Given the description of an element on the screen output the (x, y) to click on. 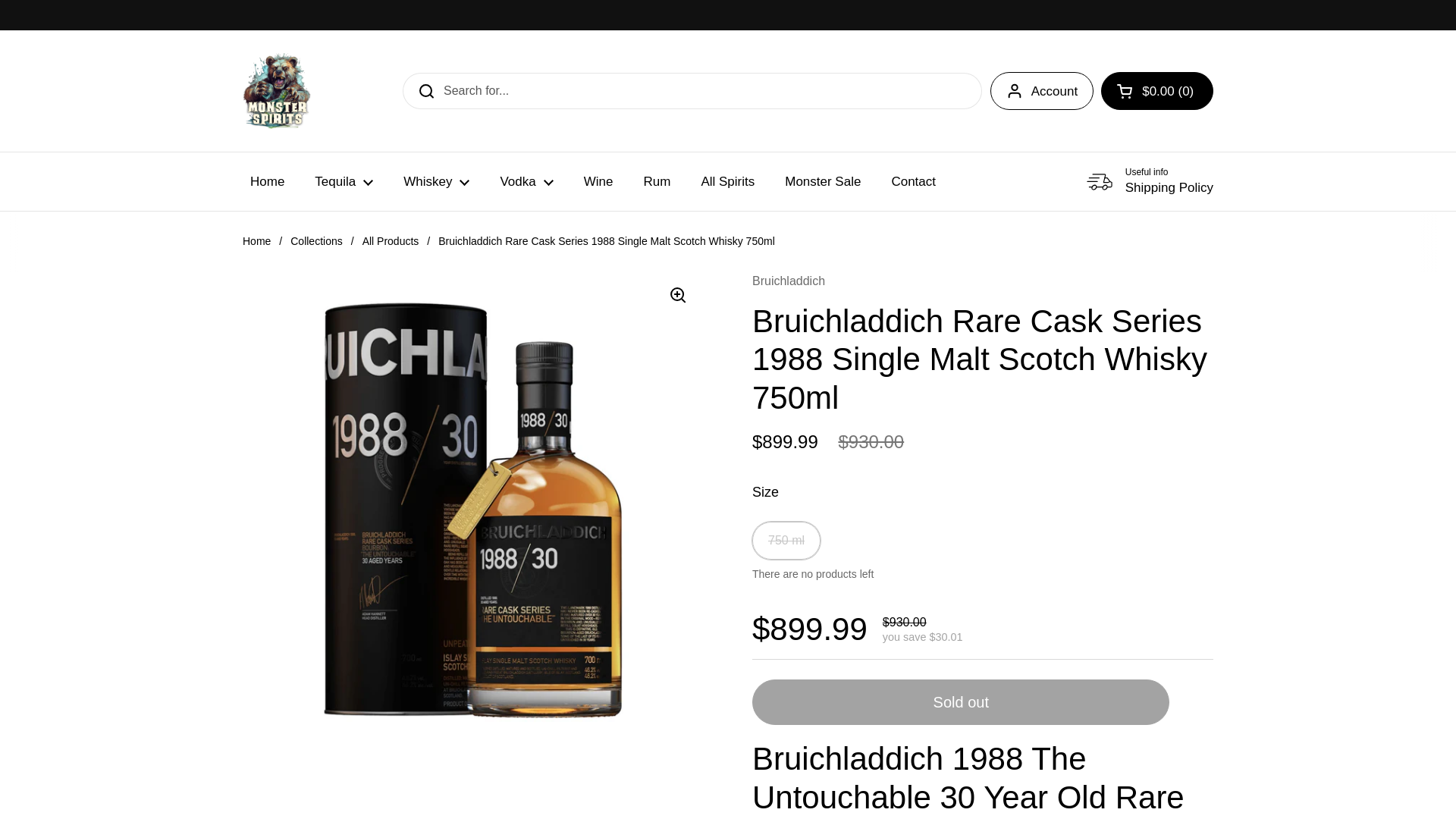
Contact (913, 181)
Whiskey (1148, 181)
Monster Spirits (436, 181)
Rum (277, 90)
Monster Sale (656, 181)
Tequila (823, 181)
Account (343, 181)
All Spirits (1041, 90)
Vodka (727, 181)
